Given the description of an element on the screen output the (x, y) to click on. 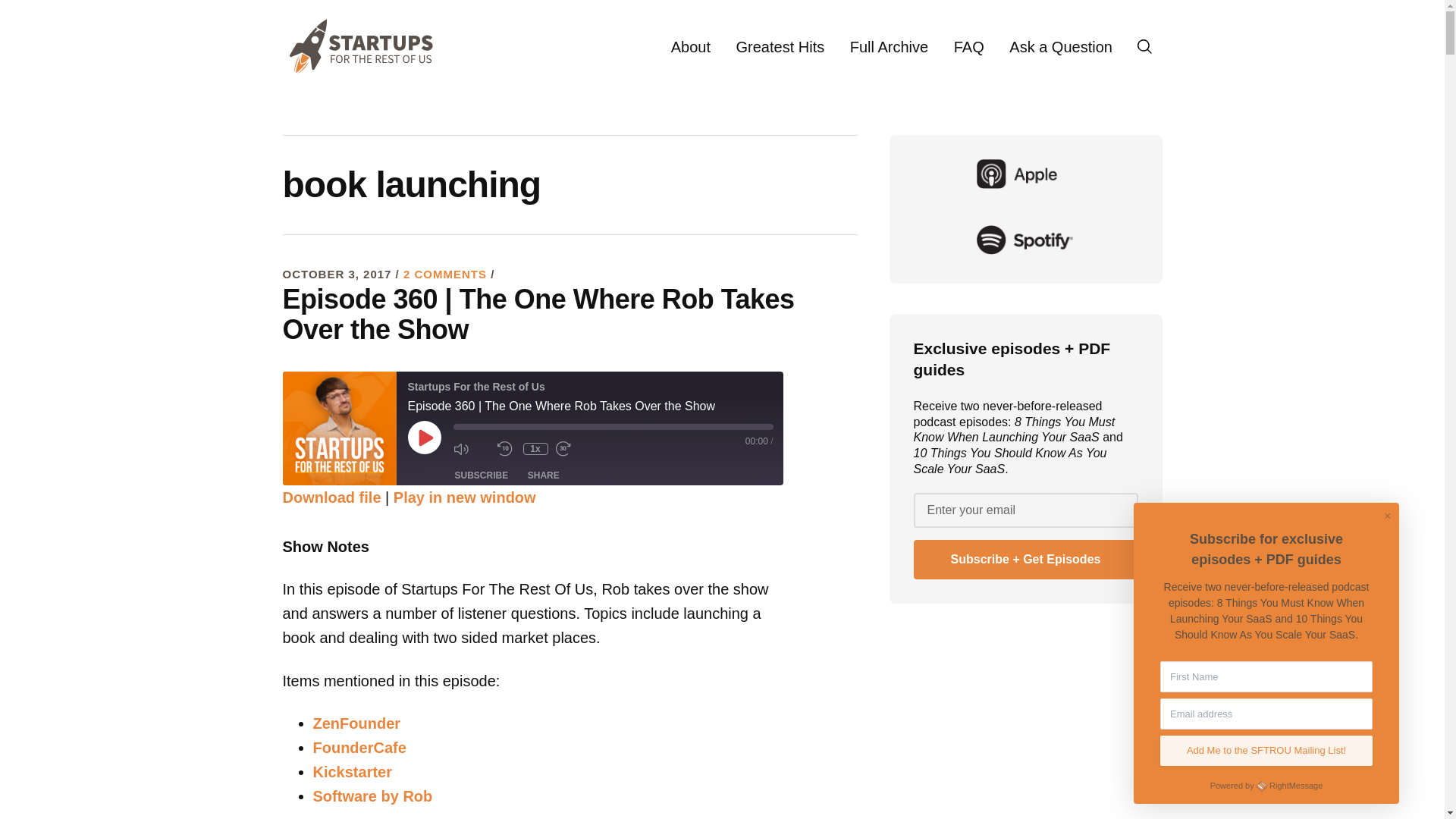
About (690, 46)
Playback Speed (535, 449)
Full Archive (889, 46)
SHARE (543, 475)
Share (543, 475)
FAQ (968, 46)
Ask a Question (1060, 46)
Subscribe (481, 475)
Play (424, 437)
